Given the description of an element on the screen output the (x, y) to click on. 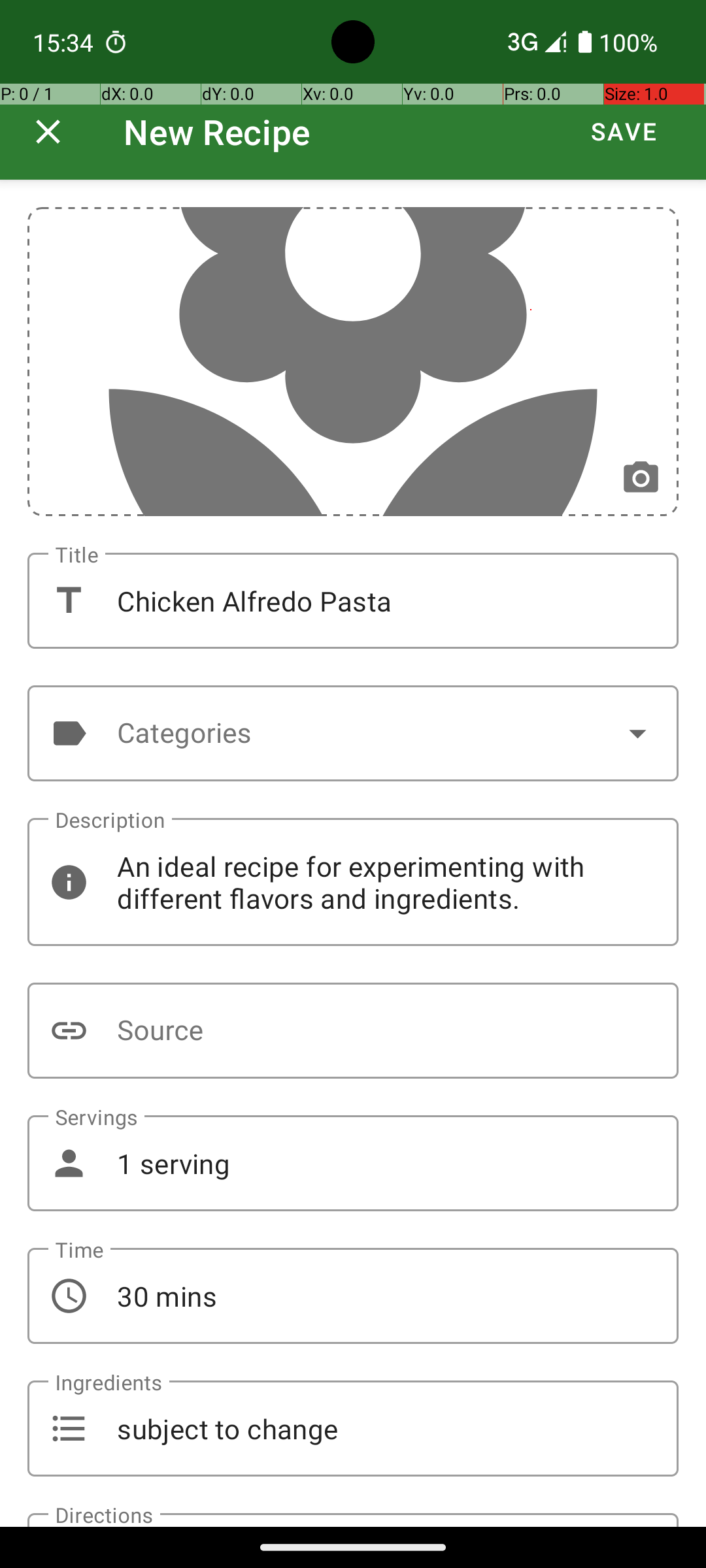
Change photo Element type: android.widget.ImageView (640, 478)
Chicken Alfredo Pasta Element type: android.widget.EditText (352, 600)
Source Element type: android.widget.EditText (352, 1030)
1 serving Element type: android.widget.EditText (352, 1163)
30 mins Element type: android.widget.EditText (352, 1295)
subject to change Element type: android.widget.EditText (352, 1428)
Cook fettuccine pasta, toss with Alfredo sauce and grilled chicken strips. Serve with a sprinkle of Parmesan cheese. Feel free to substitute with ingredients you have on hand. Element type: android.widget.EditText (352, 1519)
